Given the description of an element on the screen output the (x, y) to click on. 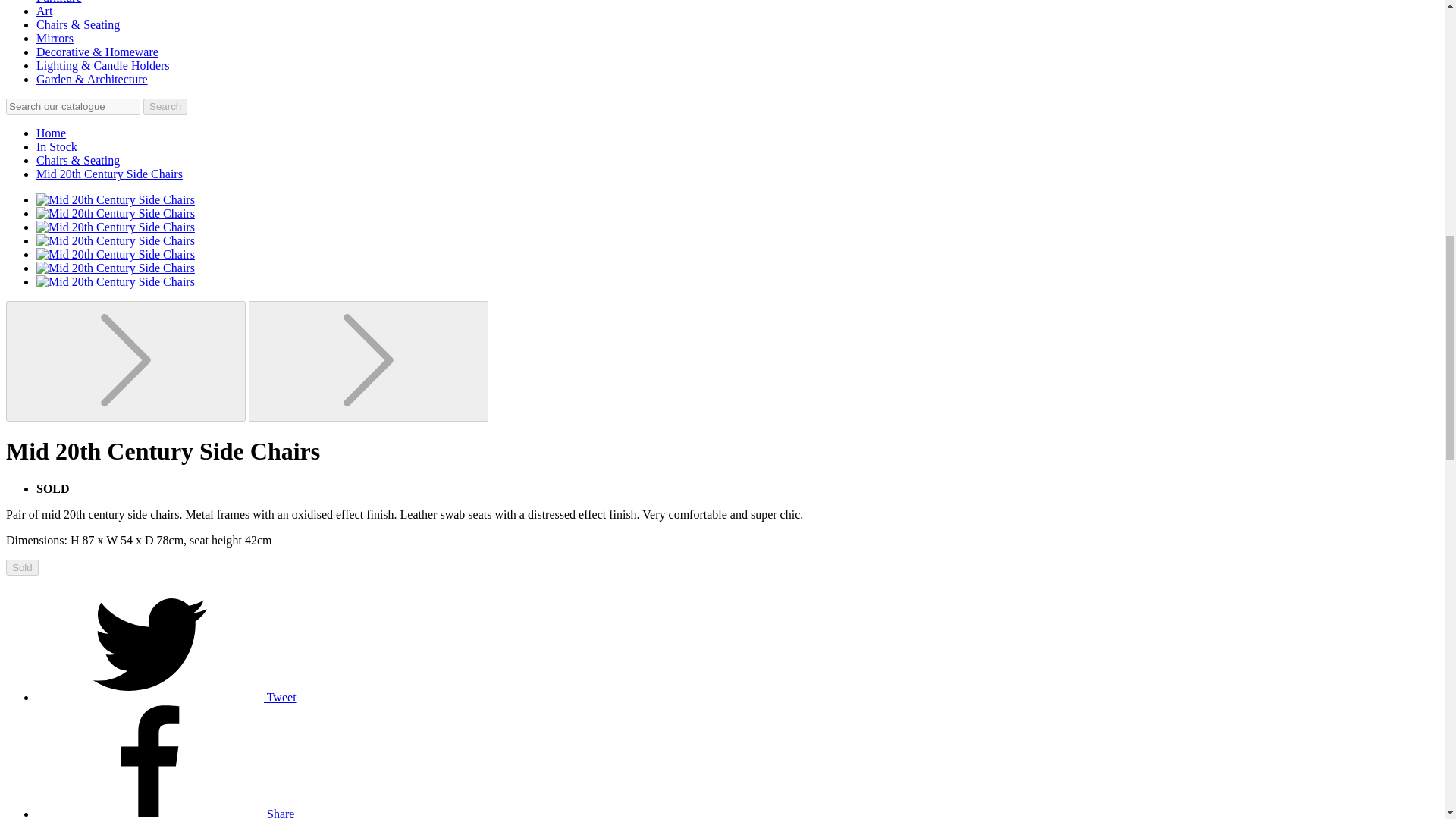
Search (164, 106)
Home (50, 132)
Art (44, 10)
Mirrors (55, 38)
Mid 20th Century Side Chairs (109, 173)
In Stock (56, 146)
Furniture (58, 2)
